Given the description of an element on the screen output the (x, y) to click on. 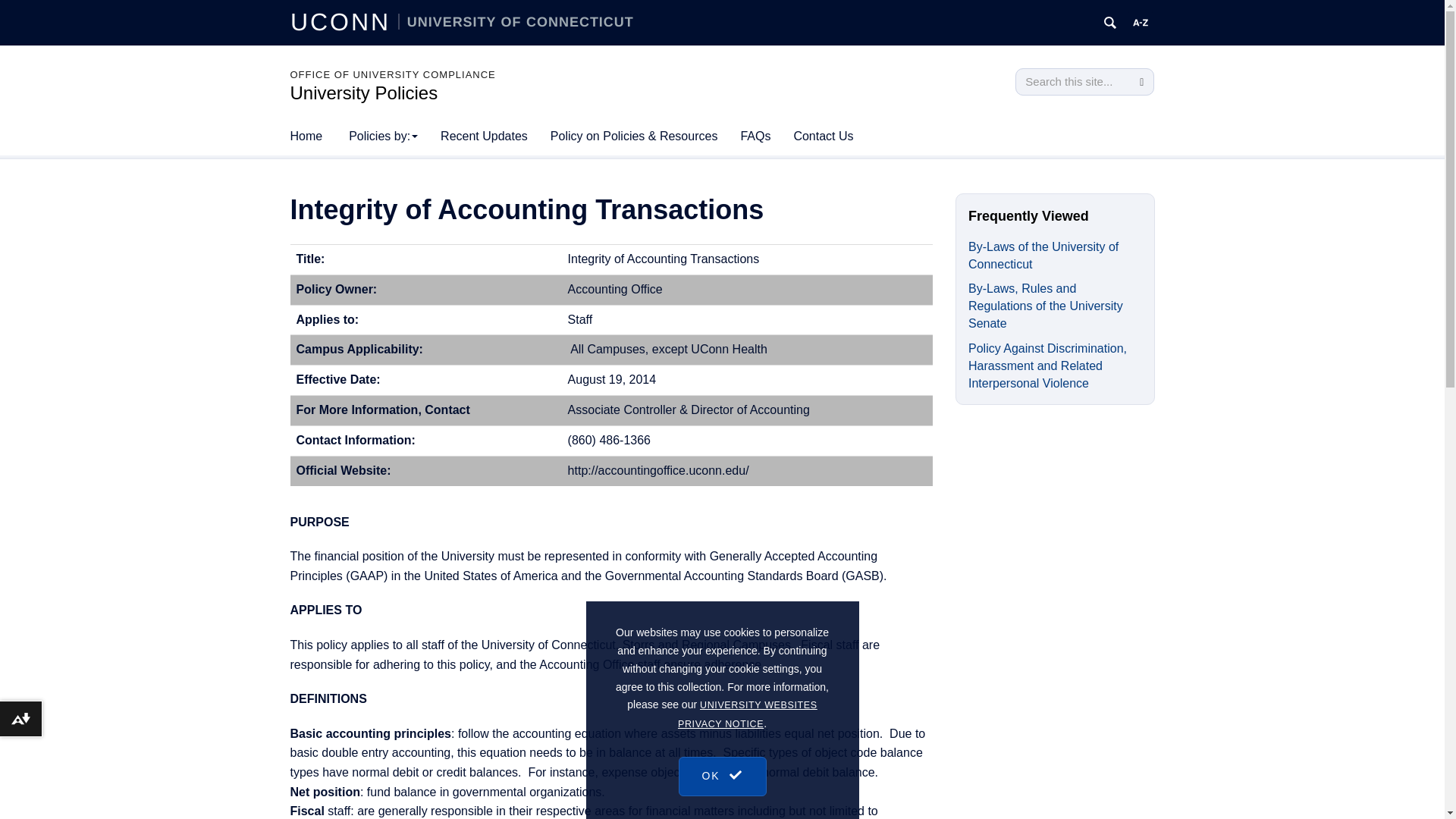
Search this site...  (1072, 81)
UConn A to Z Index (1140, 22)
Search (1141, 81)
Policies by: (383, 136)
OFFICE OF UNIVERSITY COMPLIANCE (392, 74)
UNIVERSITY OF CONNECTICUT (515, 21)
UCONN (343, 21)
Search (1141, 81)
Home (306, 136)
University Policies (363, 92)
